Given the description of an element on the screen output the (x, y) to click on. 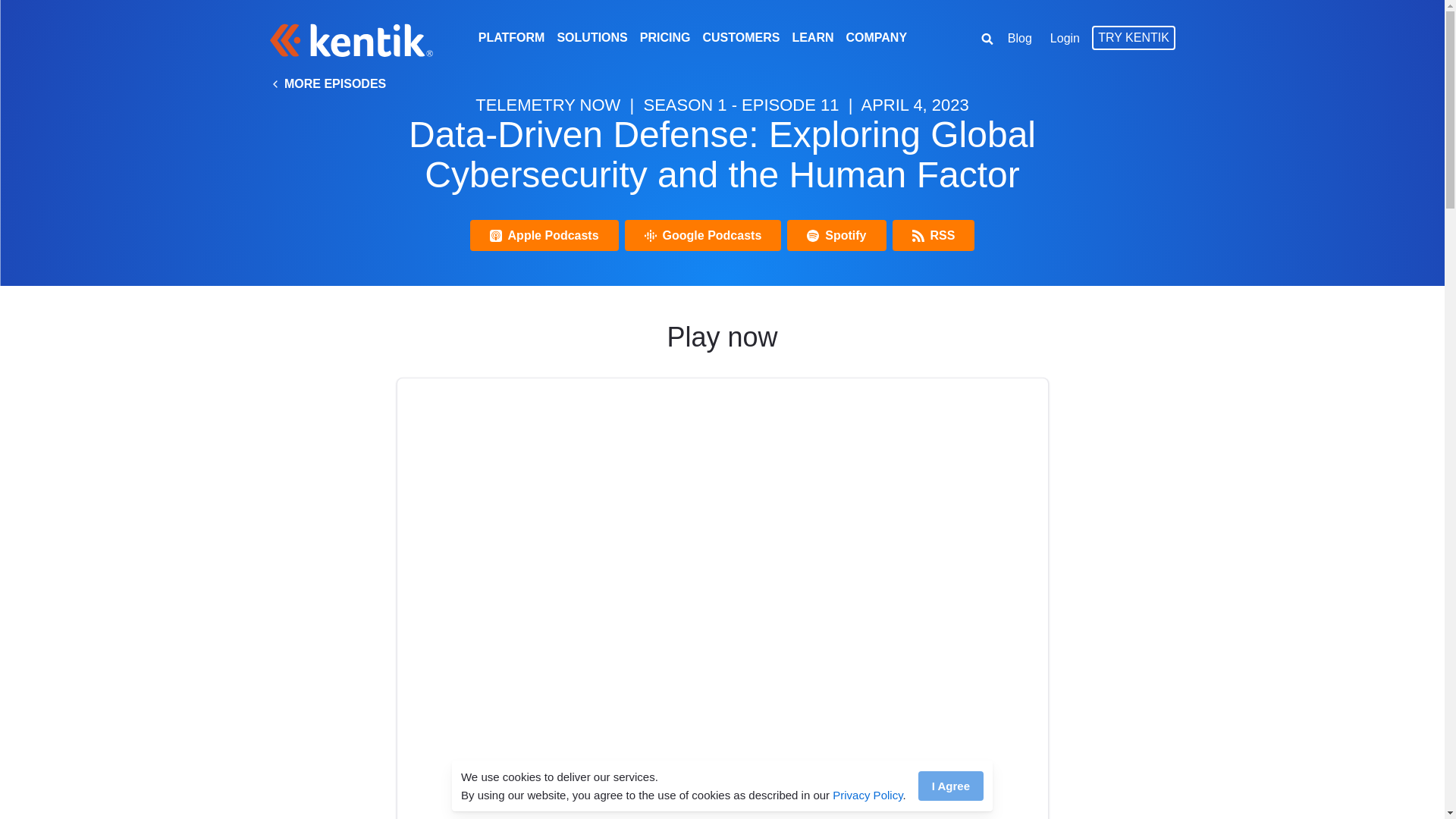
TRY KENTIK (1133, 37)
COMPANY (876, 37)
RSS (933, 235)
Apple Podcasts (544, 235)
SOLUTIONS (591, 37)
PLATFORM (511, 37)
PRICING (665, 37)
CUSTOMERS (739, 37)
Google Podcasts (702, 235)
LEARN (812, 37)
MORE EPISODES (327, 83)
Spotify (836, 235)
Blog (1019, 38)
Login (1064, 38)
